Given the description of an element on the screen output the (x, y) to click on. 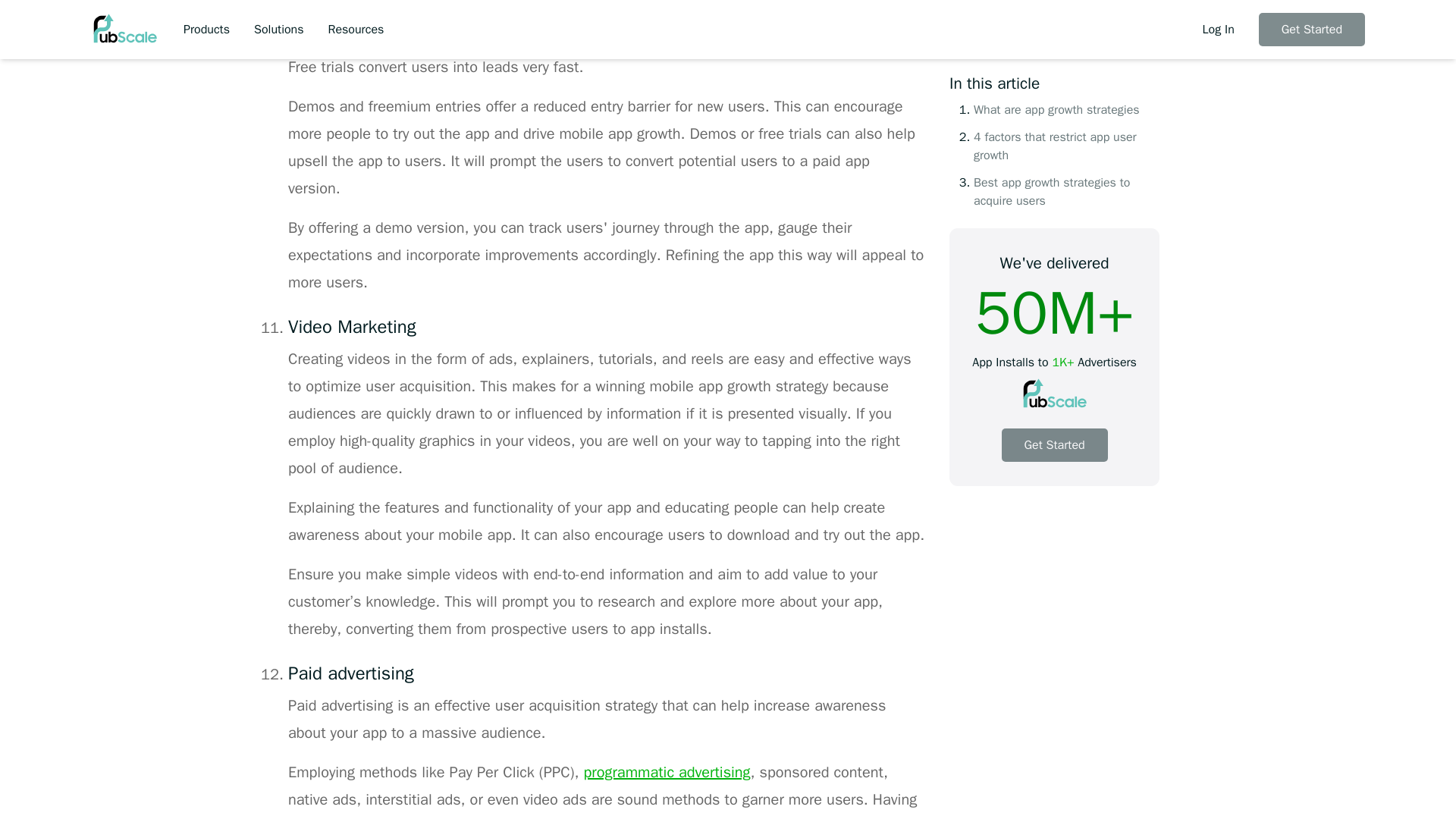
programmatic advertising (667, 772)
